Given the description of an element on the screen output the (x, y) to click on. 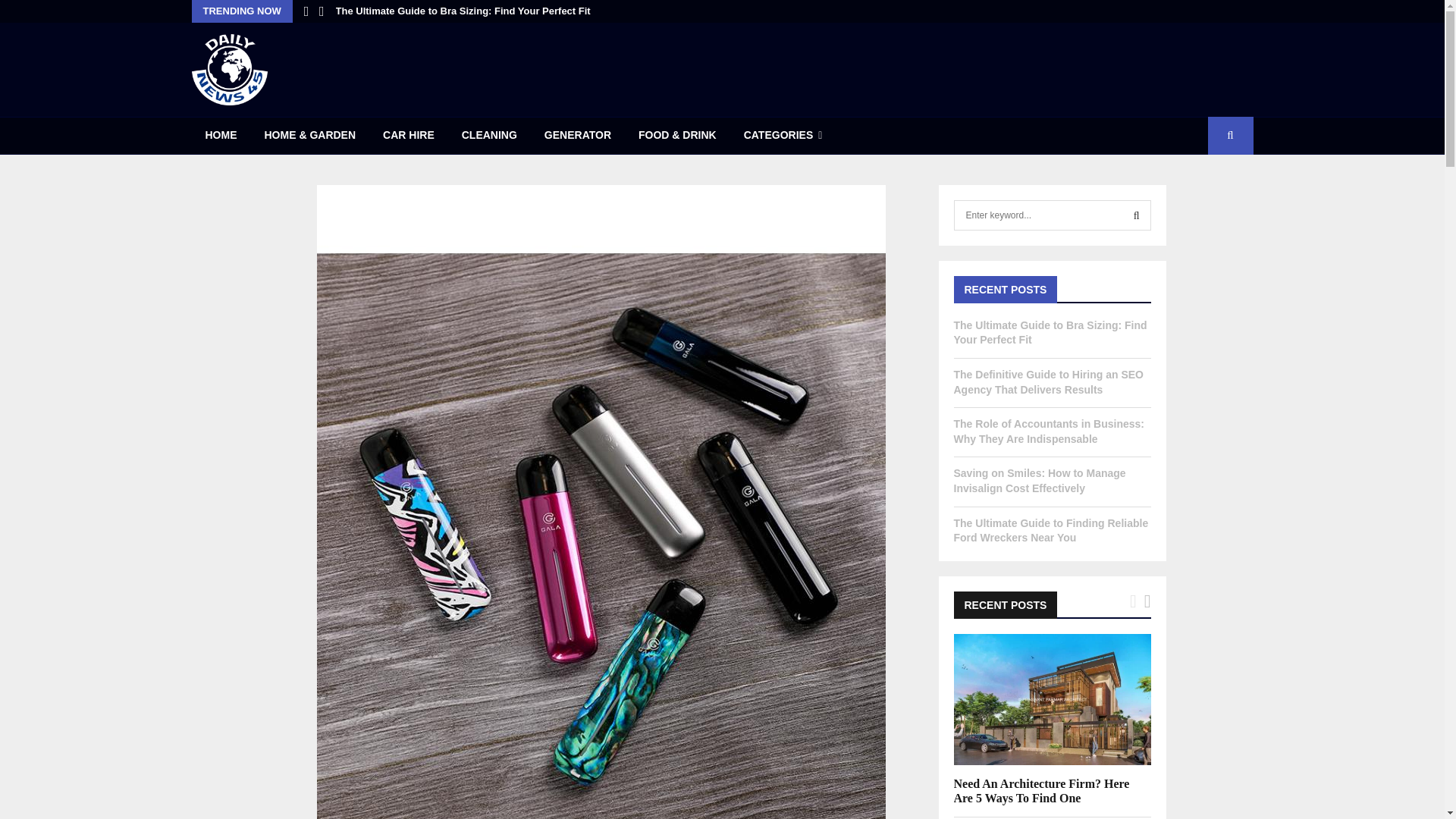
Car Hire (408, 135)
Home (220, 135)
HOME (220, 135)
DaliyNews45 (228, 69)
Cleaning (489, 135)
CATEGORIES (782, 135)
CAR HIRE (408, 135)
GENERATOR (577, 135)
Categories (782, 135)
The Ultimate Guide to Bra Sizing: Find Your Perfect Fit (463, 10)
Generator (577, 135)
CLEANING (489, 135)
